Given the description of an element on the screen output the (x, y) to click on. 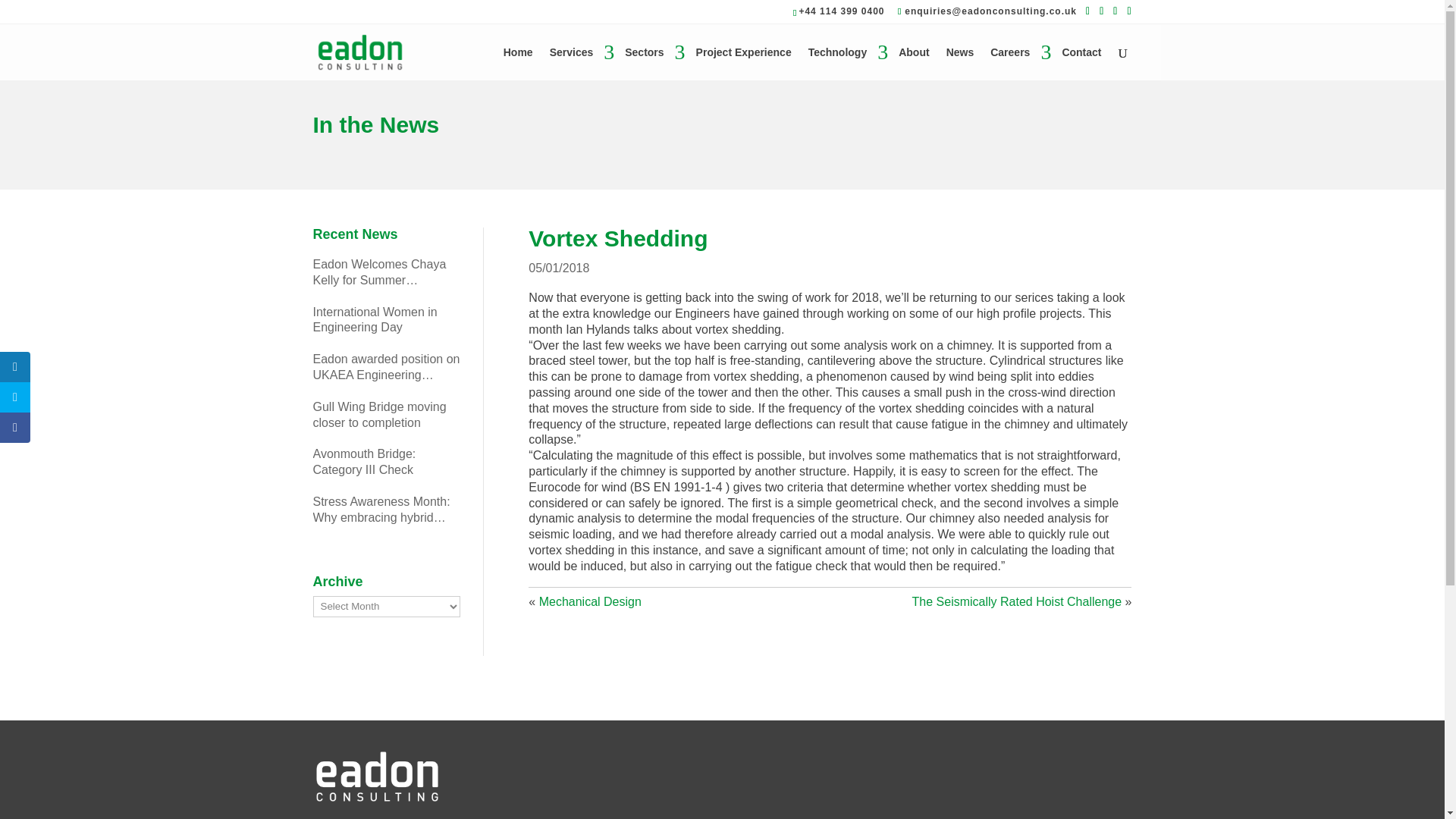
Project Experience (743, 63)
About (913, 63)
Services (579, 63)
Careers (1017, 63)
Contact (1080, 63)
Sectors (651, 63)
Technology (845, 63)
